Given the description of an element on the screen output the (x, y) to click on. 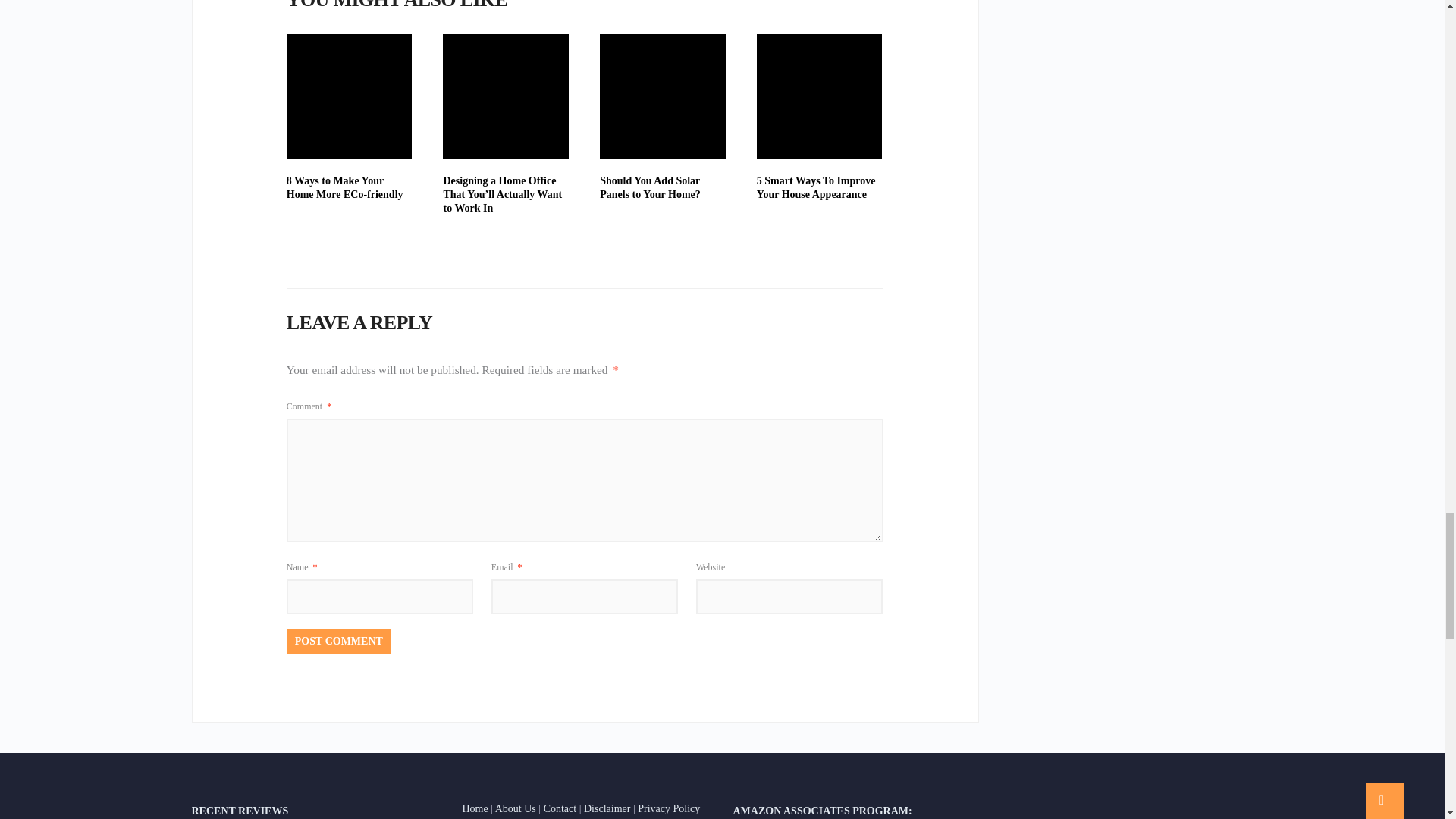
Should You Add Solar Panels to Your Home? (649, 187)
8 Ways to Make Your Home More ECo-friendly (344, 187)
8 Ways to Make Your Home More ECo-friendly (344, 187)
5 Smart Ways To Improve Your House Appearance (819, 96)
8 Ways to Make Your Home More ECo-friendly (349, 96)
5 Smart Ways To Improve Your House Appearance (816, 187)
5 Smart Ways To Improve Your House Appearance (816, 187)
Post Comment (338, 641)
Should You Add Solar Panels to Your Home? (649, 187)
Should You Add Solar Panels to Your Home? (662, 96)
